Given the description of an element on the screen output the (x, y) to click on. 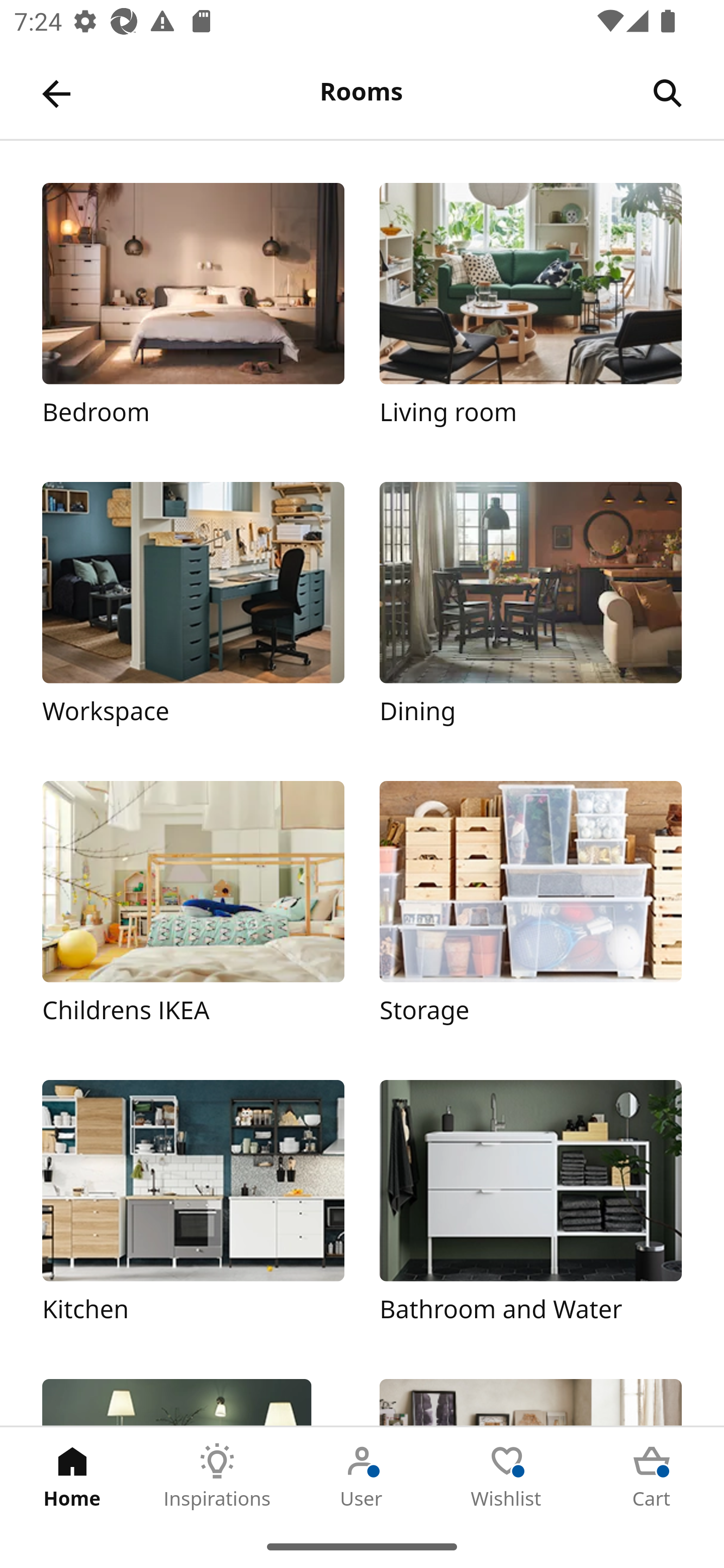
Bedroom (192, 314)
Living room (530, 314)
Workspace (192, 613)
Dining (530, 613)
Childrens IKEA (192, 912)
Storage (530, 912)
Kitchen (192, 1211)
Bathroom and Water (530, 1211)
Home
Tab 1 of 5 (72, 1476)
Inspirations
Tab 2 of 5 (216, 1476)
User
Tab 3 of 5 (361, 1476)
Wishlist
Tab 4 of 5 (506, 1476)
Cart
Tab 5 of 5 (651, 1476)
